Given the description of an element on the screen output the (x, y) to click on. 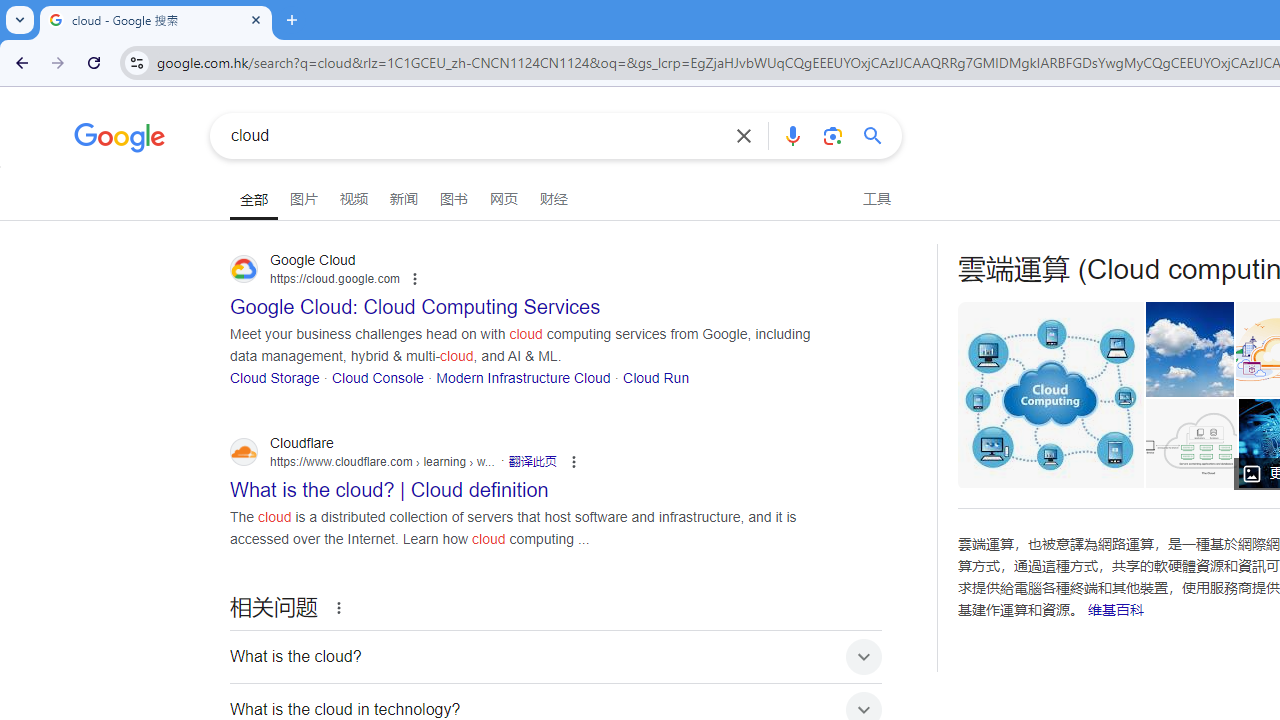
Cloud Storage (275, 376)
Cloud Console (377, 376)
